Given the description of an element on the screen output the (x, y) to click on. 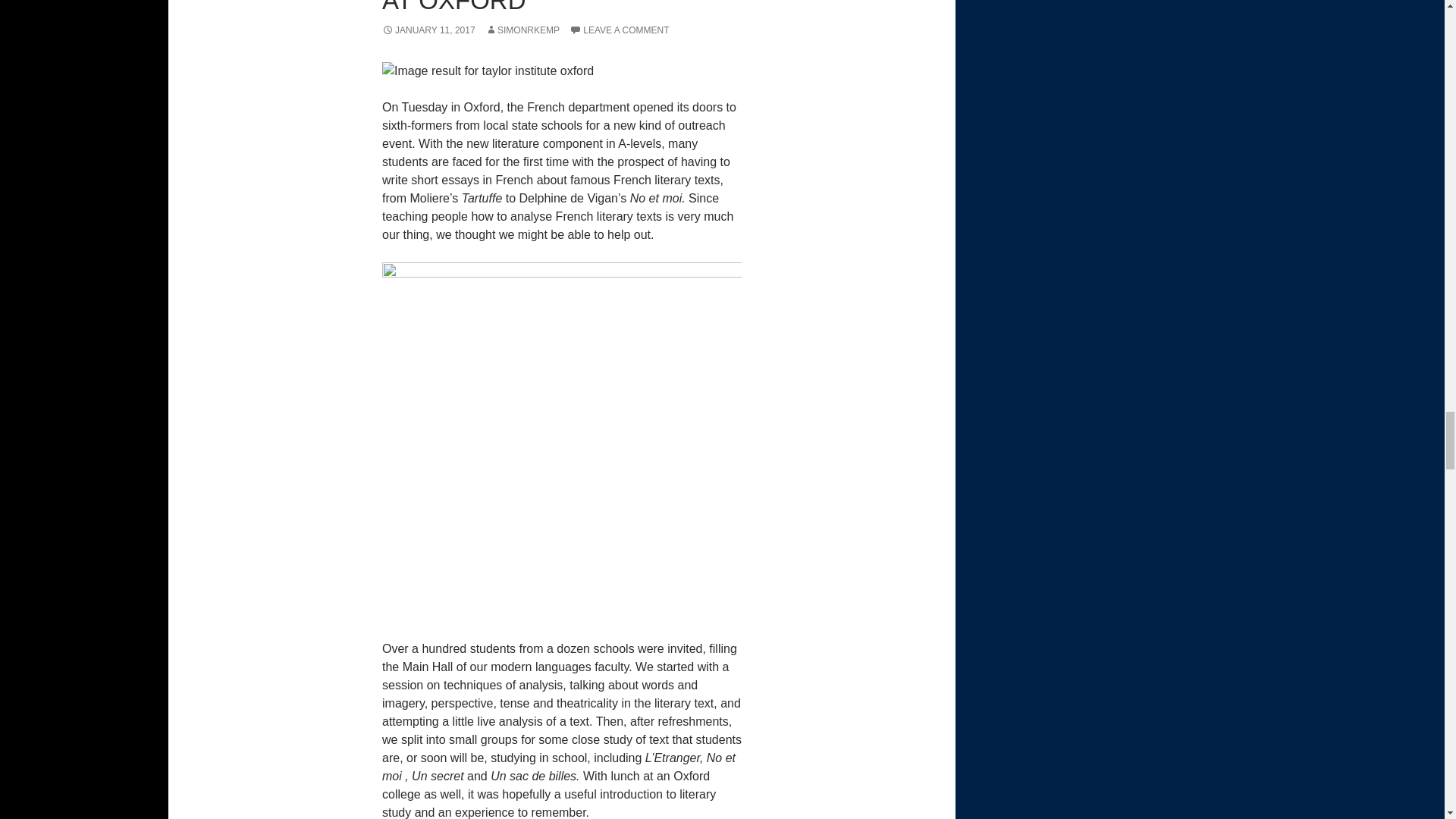
SIMONRKEMP (521, 30)
LITERATURE MASTERCLASS AT OXFORD (555, 7)
JANUARY 11, 2017 (428, 30)
LEAVE A COMMENT (618, 30)
